Given the description of an element on the screen output the (x, y) to click on. 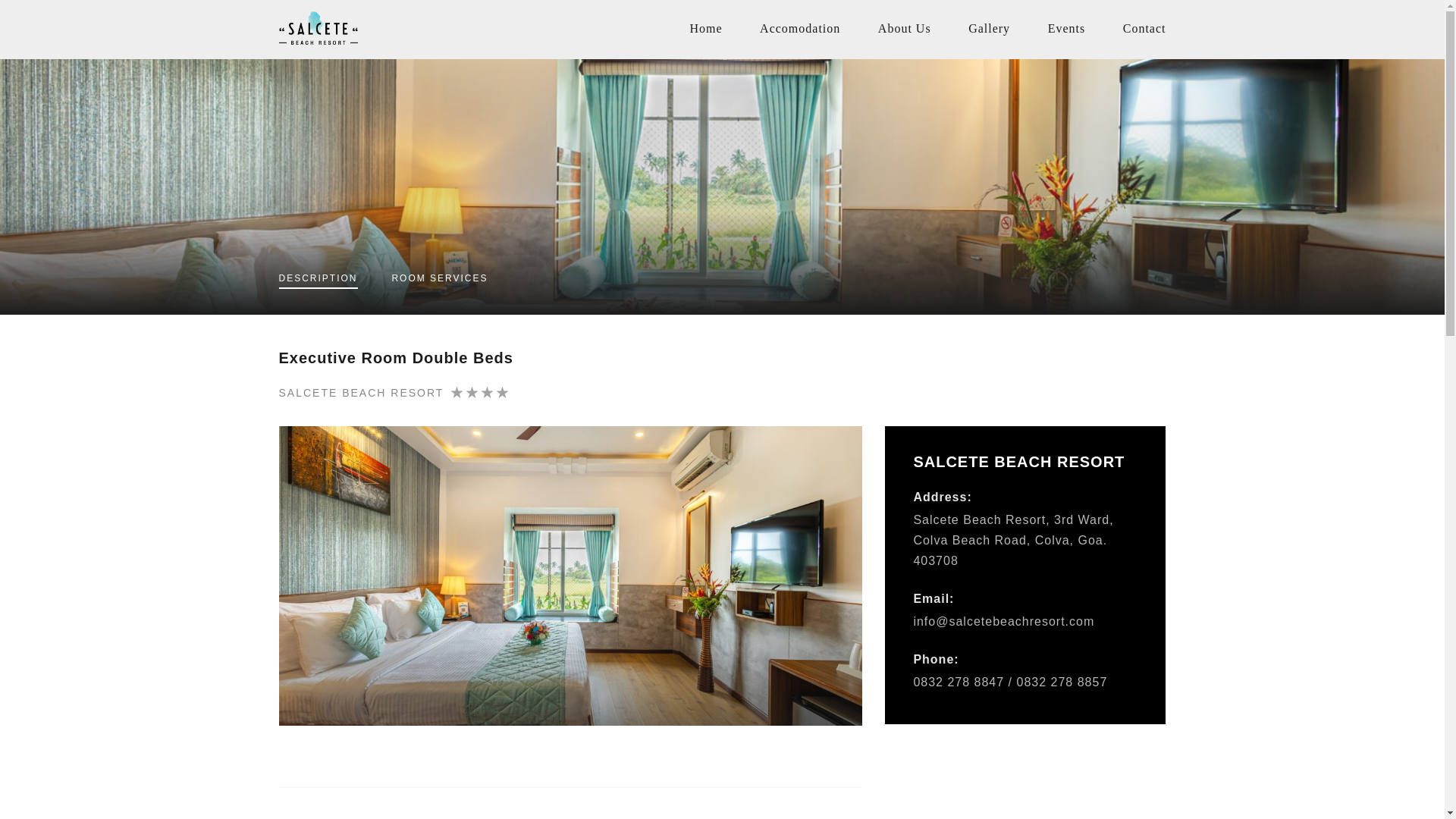
About Us (904, 28)
DESCRIPTION (318, 280)
Home (705, 28)
Accomodation (800, 28)
Events (1067, 28)
Contact (1144, 28)
Gallery (989, 28)
